Given the description of an element on the screen output the (x, y) to click on. 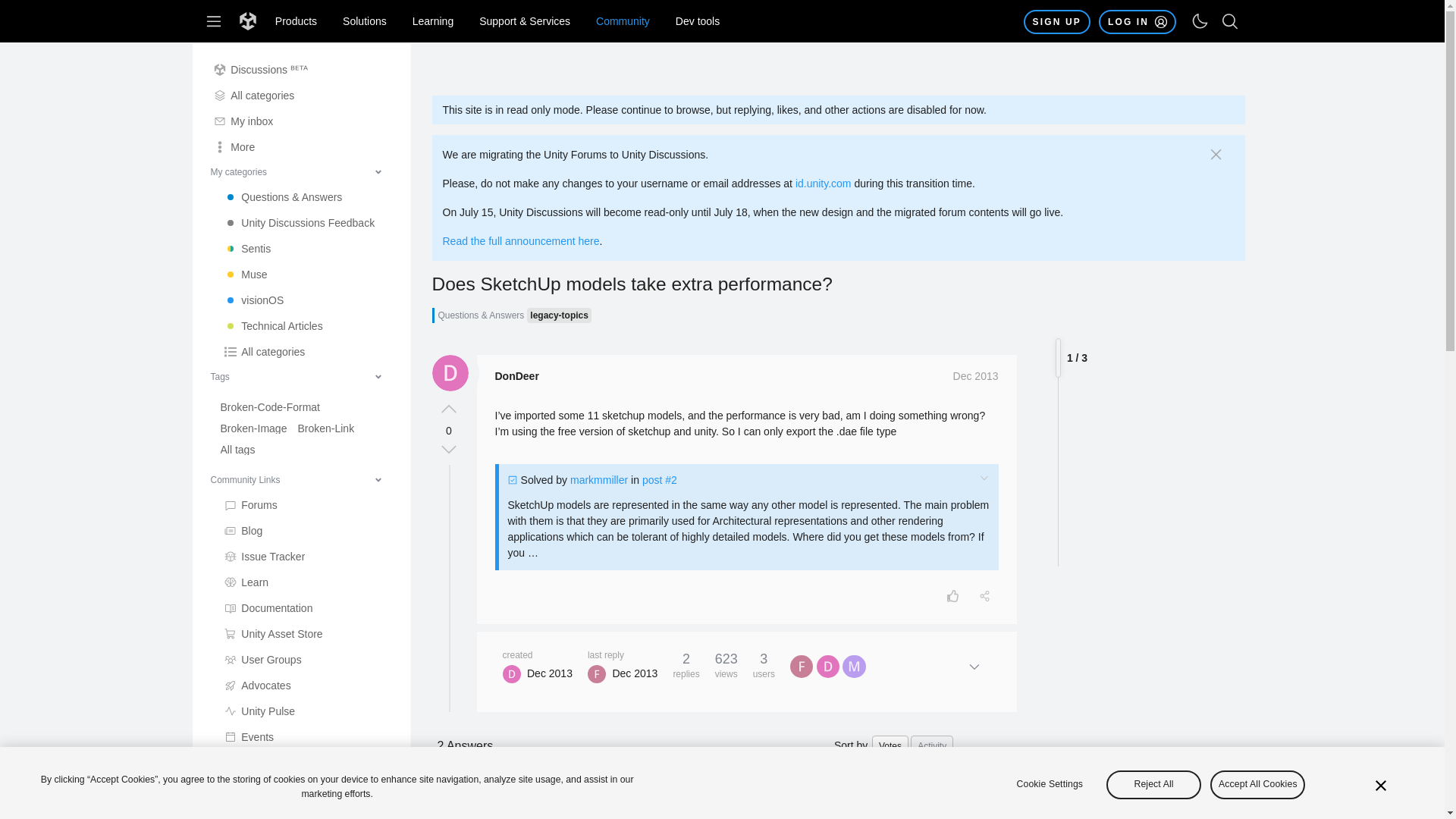
Products (295, 21)
Advocates (306, 685)
Toggle section (296, 376)
Made with Unity (306, 788)
Solutions (364, 21)
Play (306, 810)
Creator Spotlight (306, 762)
Keyboard Shortcuts (385, 803)
Forums (306, 504)
Community (623, 21)
Toggle color scheme (1199, 21)
More (301, 146)
Toggle section (296, 479)
SIGN UP (1056, 21)
